Given the description of an element on the screen output the (x, y) to click on. 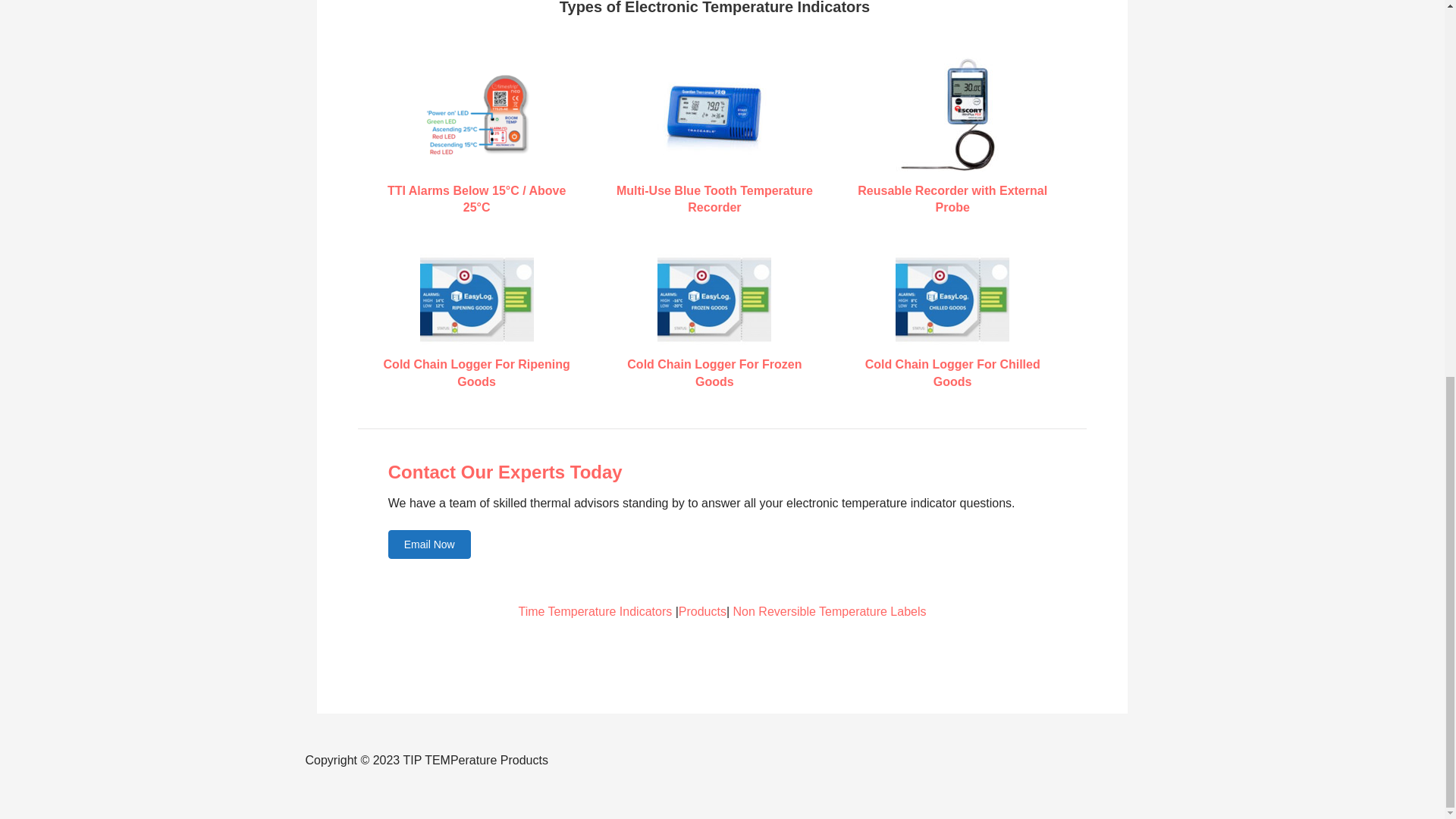
Non Reversible Temperature Labels (829, 611)
Multi-Use Blue Tooth Temperature Recorder (713, 198)
Cold Chain Logger For Frozen Goods (714, 372)
Reusable Recorder with External Probe (951, 198)
Cold Chain Logger For Chilled Goods (952, 372)
Cold Chain Logger for Ripening Goods (477, 298)
Cold Chain Logger for Chilled Goods (952, 298)
Cold Chain Logger for Frozen Goods (714, 298)
Time Temperature Indicators (594, 611)
Products (702, 611)
Cold Chain Logger For Ripening Goods (477, 372)
Email Now (429, 543)
Contact Our Experts Today (505, 471)
